Given the description of an element on the screen output the (x, y) to click on. 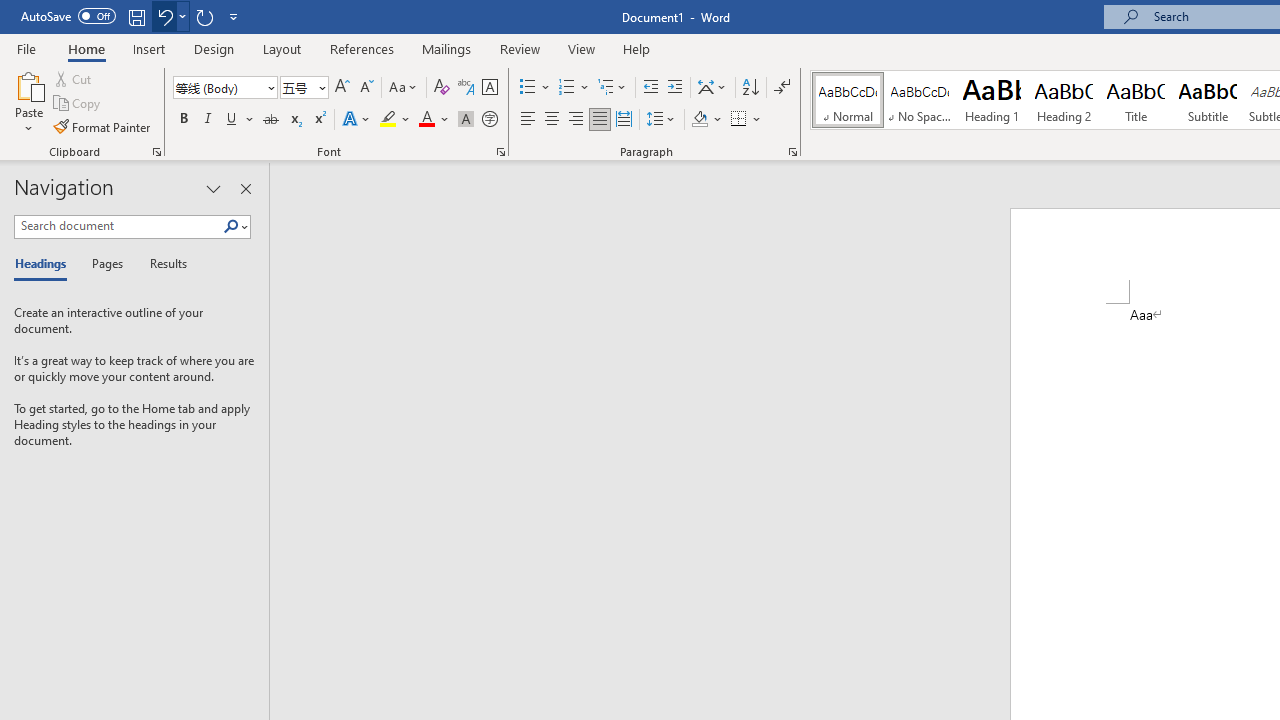
Repeat Typing (204, 15)
